Given the description of an element on the screen output the (x, y) to click on. 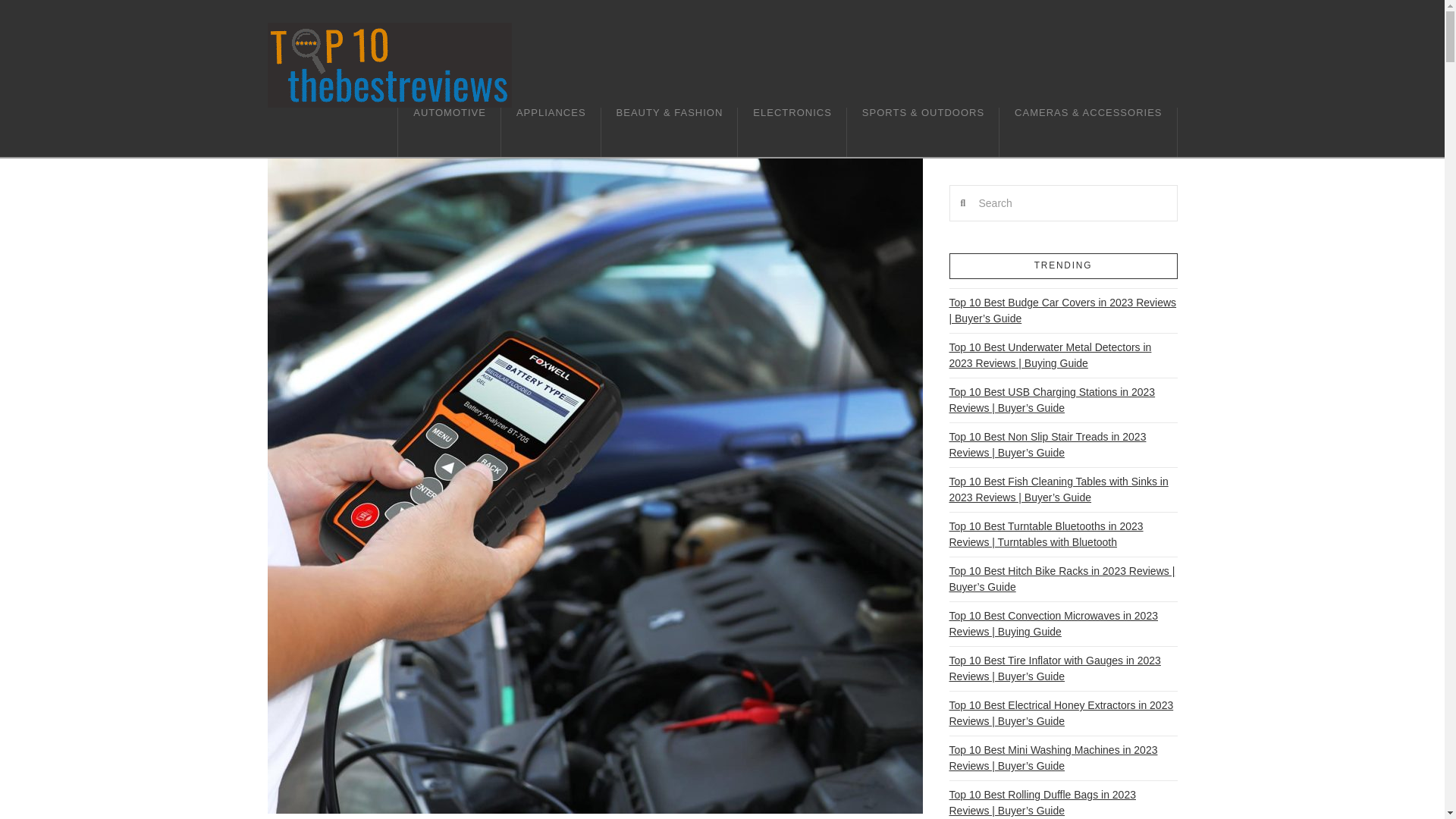
APPLIANCES (550, 132)
AUTOMOTIVE (448, 132)
ELECTRONICS (791, 132)
